Given the description of an element on the screen output the (x, y) to click on. 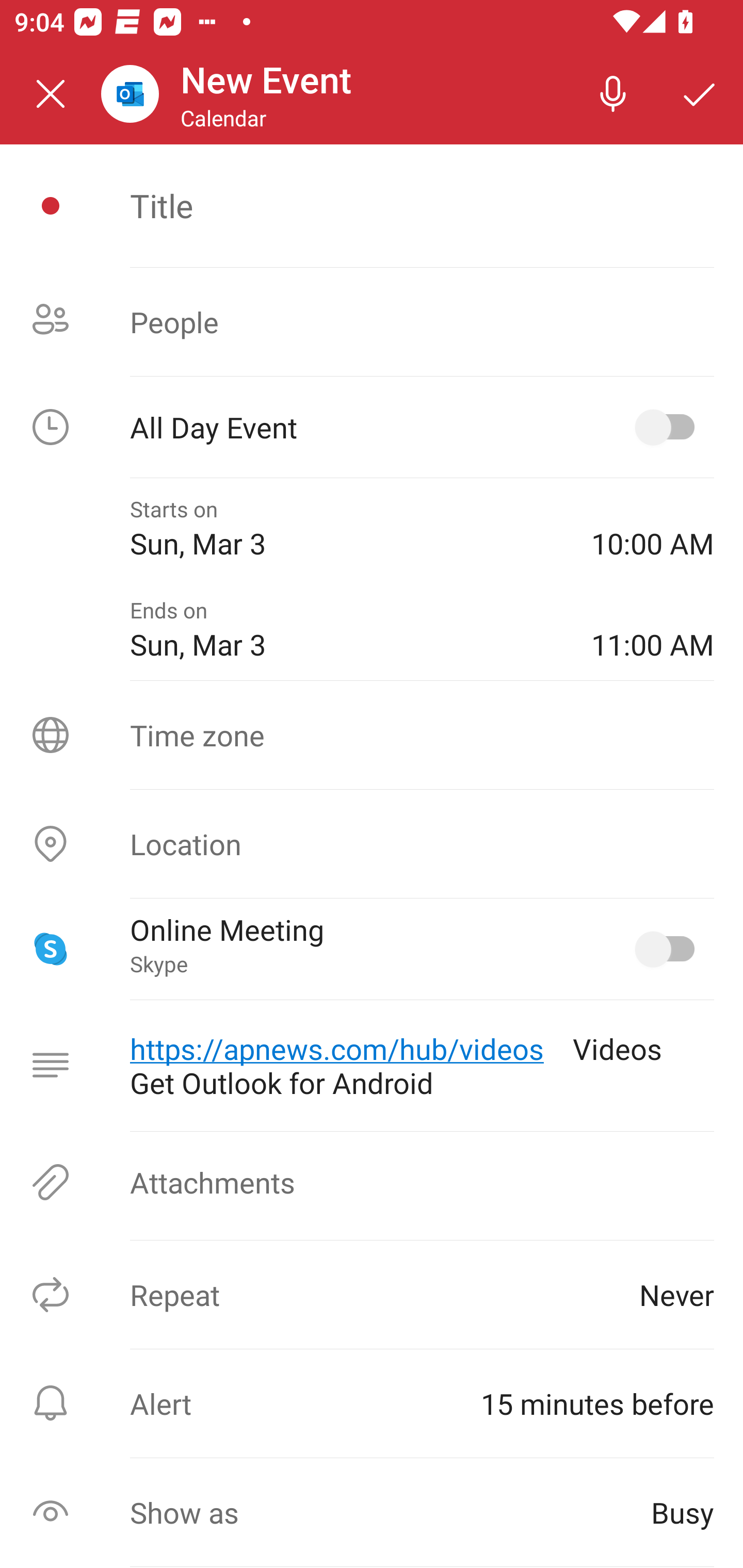
Close (50, 93)
Save (699, 93)
Title (422, 205)
Event icon picker (50, 206)
People (371, 322)
All Day Event (371, 427)
Starts on Sun, Mar 3 (345, 528)
10:00 AM (652, 528)
Ends on Sun, Mar 3 (345, 629)
11:00 AM (652, 629)
Time zone (371, 734)
Location (371, 844)
Online Meeting, Skype selected (669, 949)
Attachments (371, 1182)
Repeat Never (371, 1294)
Alert ⁨15 minutes before (371, 1404)
Show as Busy (371, 1512)
